Given the description of an element on the screen output the (x, y) to click on. 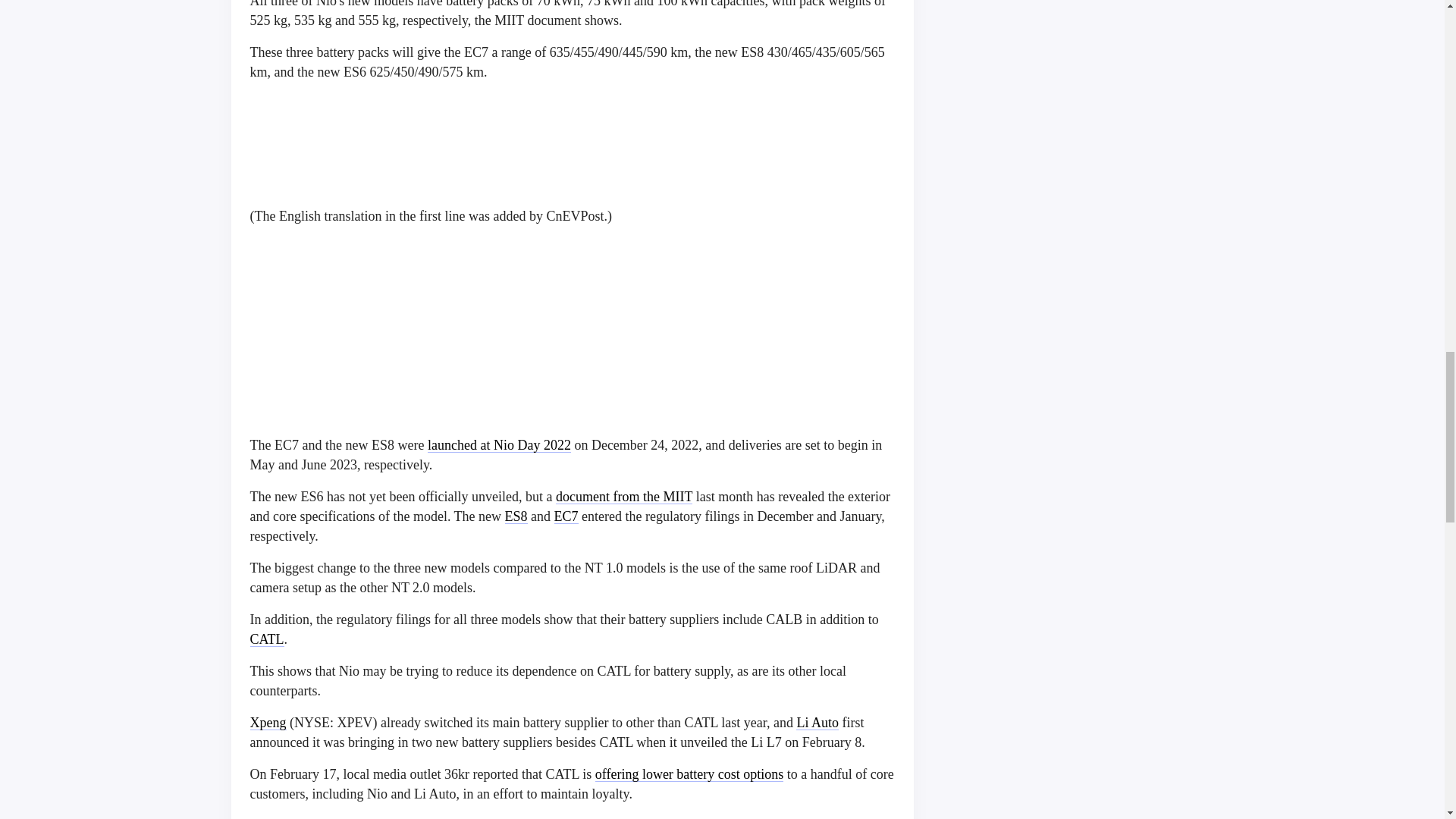
document from the MIIT (624, 496)
EC7 (566, 516)
offering lower battery cost options (689, 774)
CATL (266, 639)
Xpeng (268, 722)
Li Auto (817, 722)
ES8 (516, 516)
launched at Nio Day 2022 (499, 444)
